Given the description of an element on the screen output the (x, y) to click on. 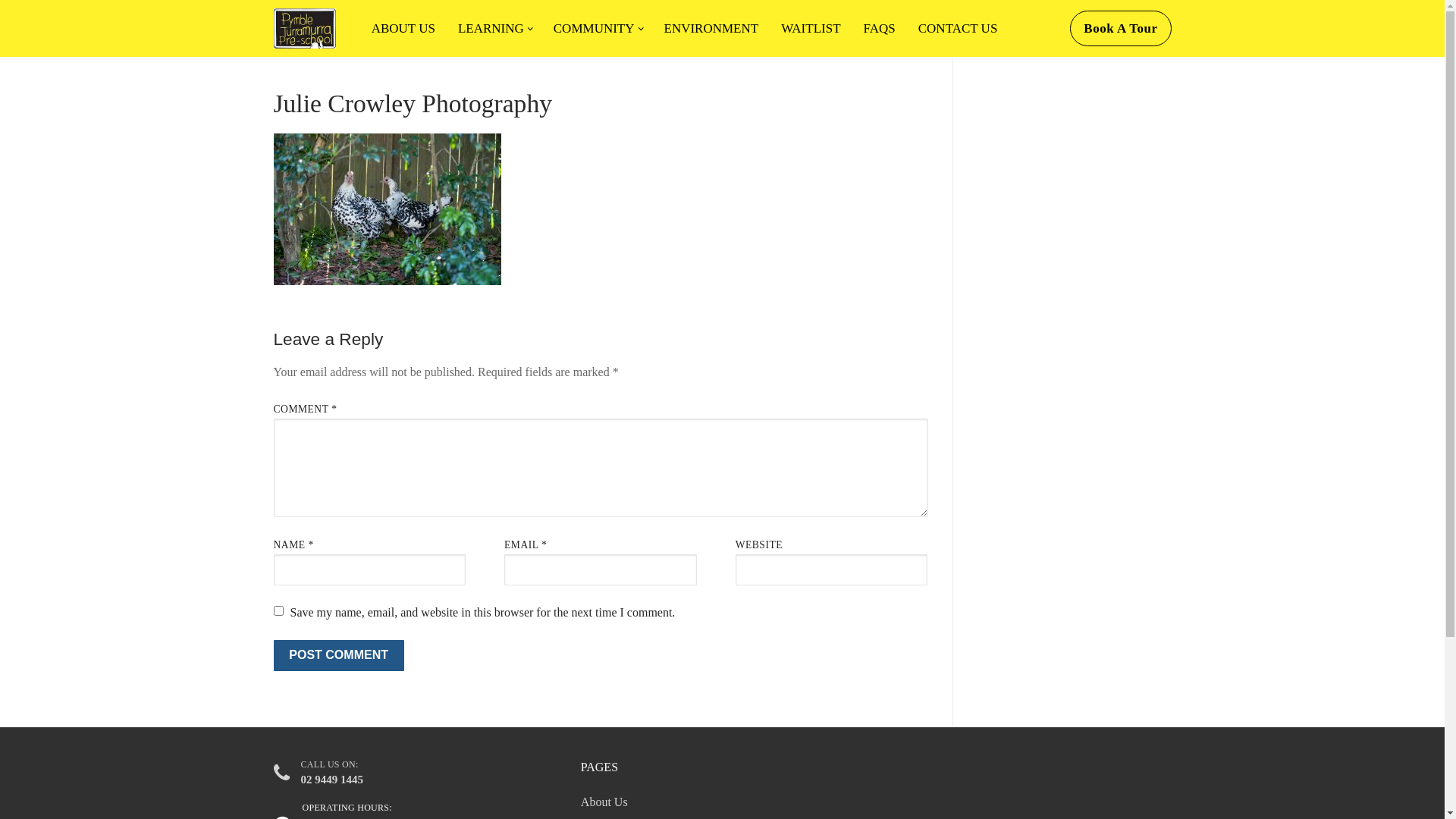
Post Comment Element type: text (338, 655)
ENVIRONMENT Element type: text (711, 27)
CONTACT US Element type: text (957, 27)
WAITLIST Element type: text (810, 27)
ABOUT US Element type: text (403, 27)
LEARNING
  Element type: text (494, 27)
Book A Tour Element type: text (1120, 28)
FAQS Element type: text (879, 27)
CALL US ON:
02 9449 1445 Element type: text (318, 773)
COMMUNITY
  Element type: text (597, 27)
